Given the description of an element on the screen output the (x, y) to click on. 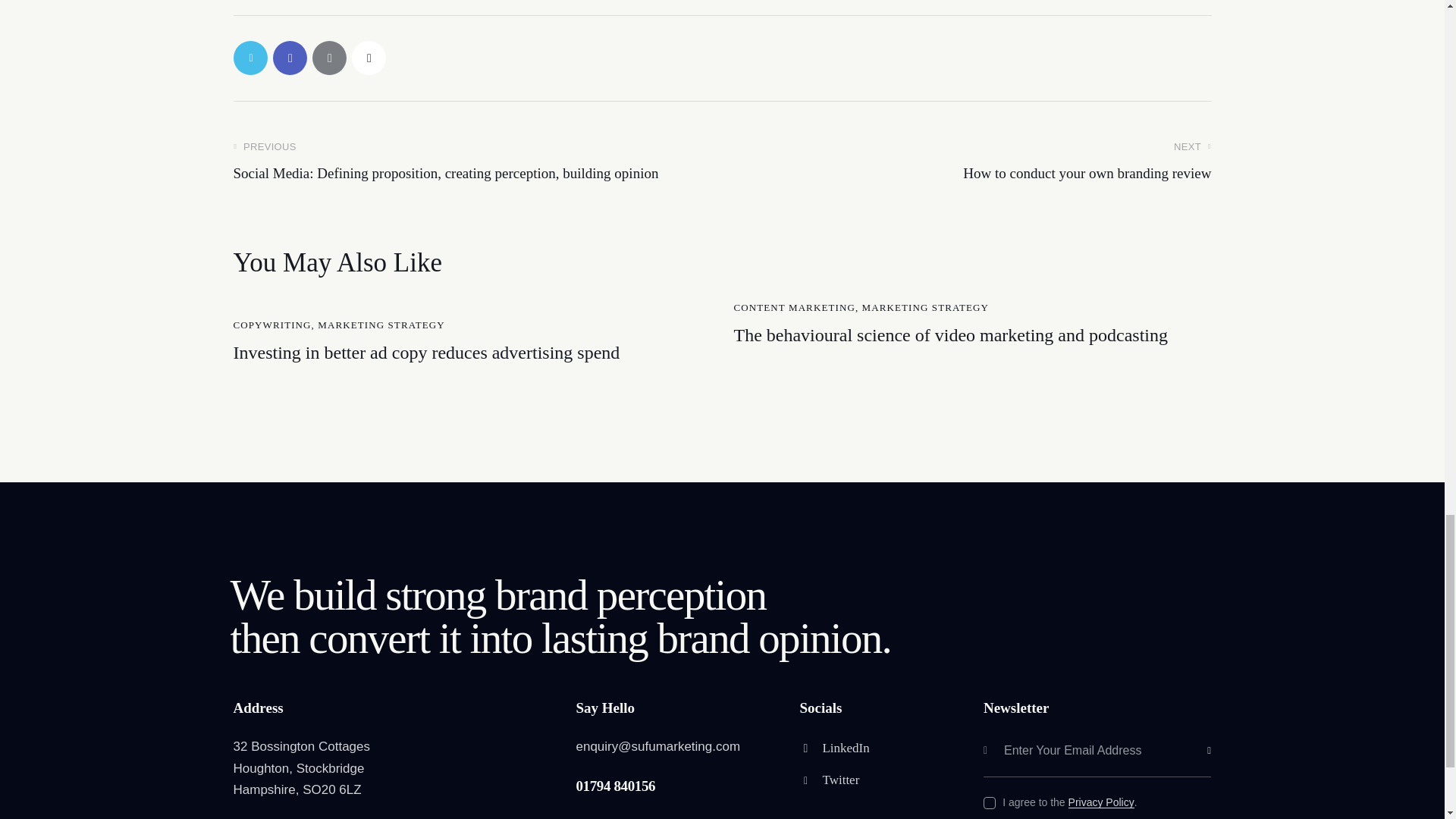
MARKETING STRATEGY (381, 324)
COPYWRITING (271, 324)
1 (1216, 728)
Copy URL to clipboard (972, 162)
